Given the description of an element on the screen output the (x, y) to click on. 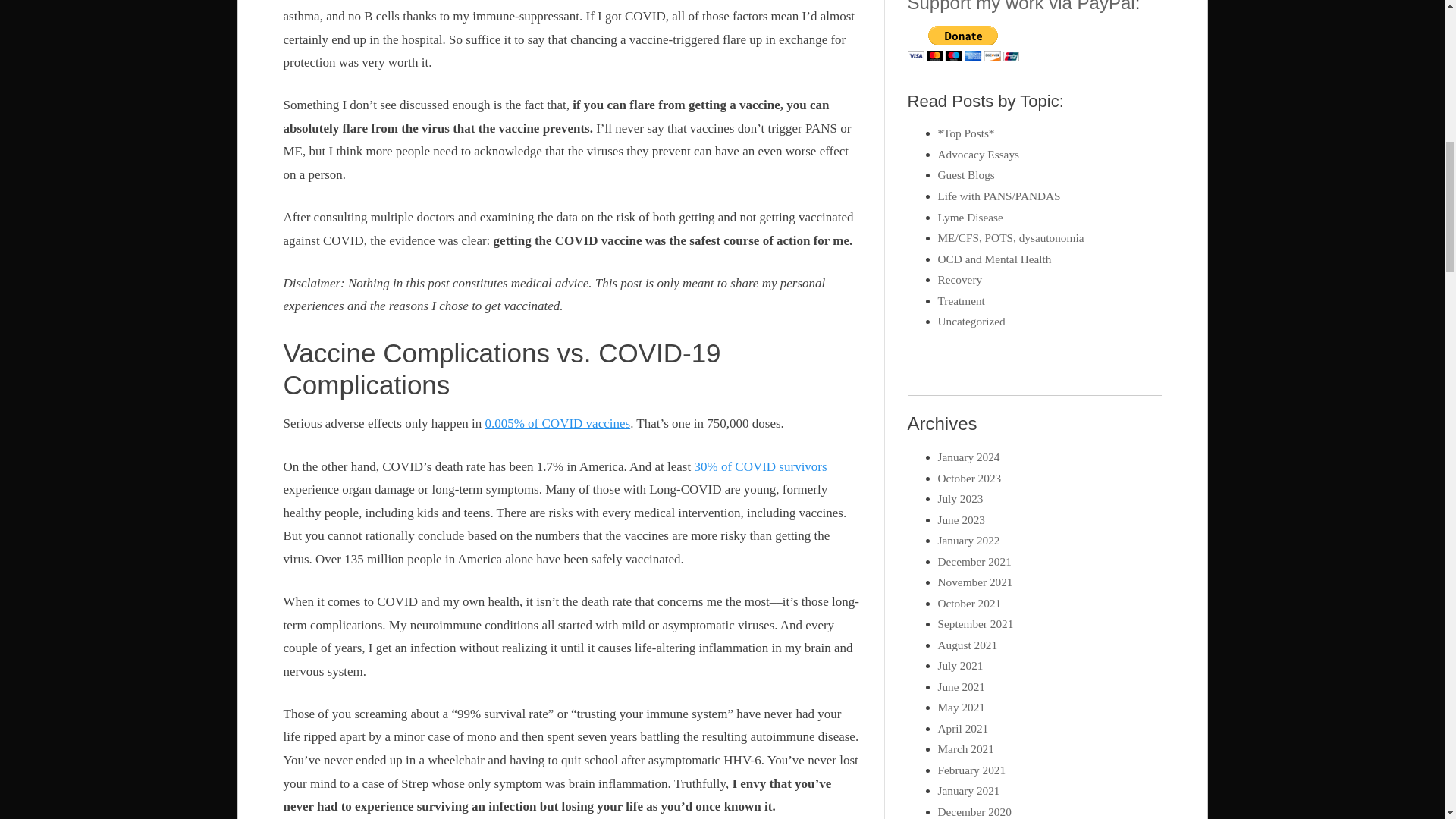
PayPal - The safer, easier way to pay online! (963, 43)
